Given the description of an element on the screen output the (x, y) to click on. 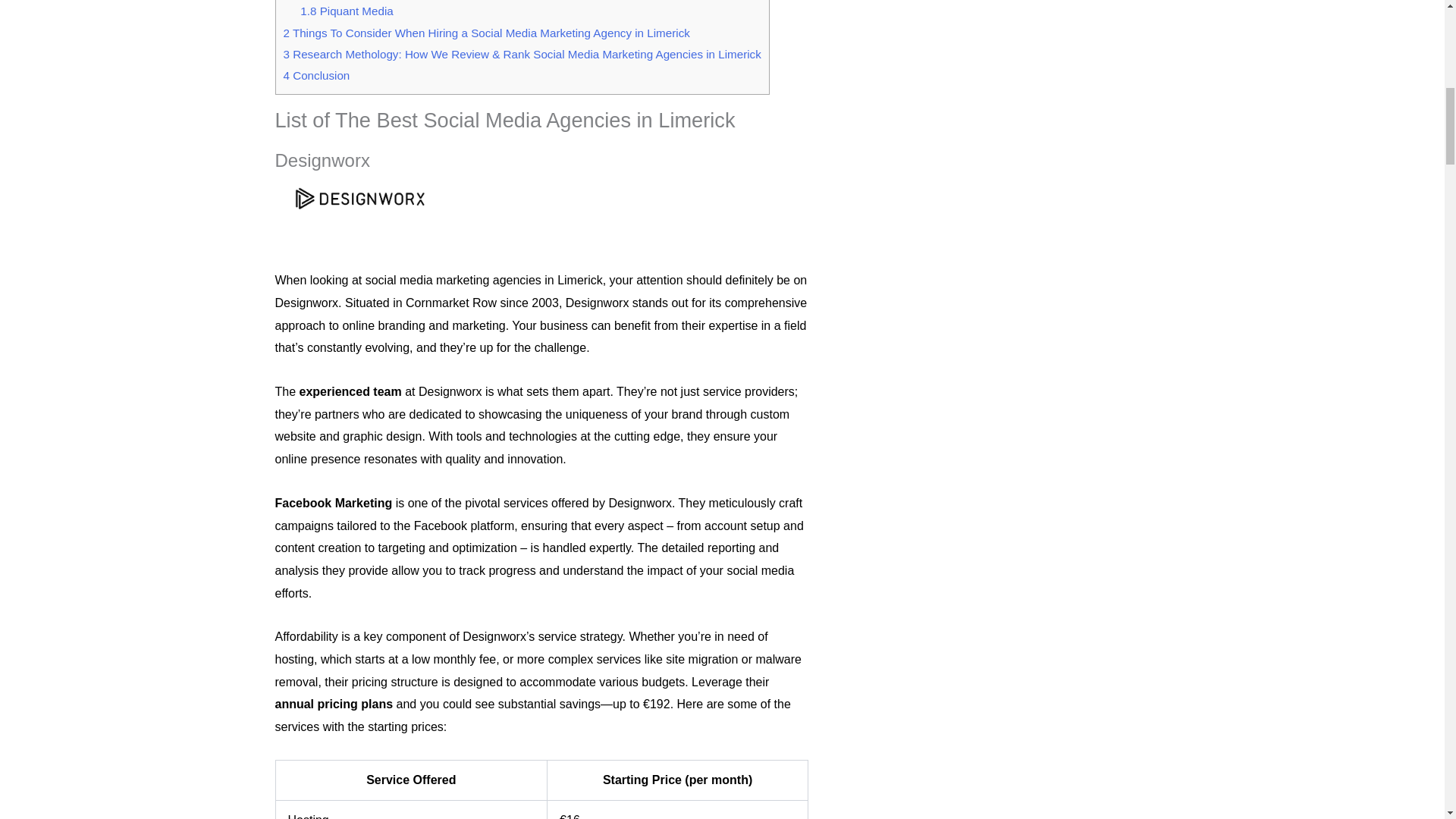
1.8 Piquant Media (346, 10)
4 Conclusion (316, 74)
